Given the description of an element on the screen output the (x, y) to click on. 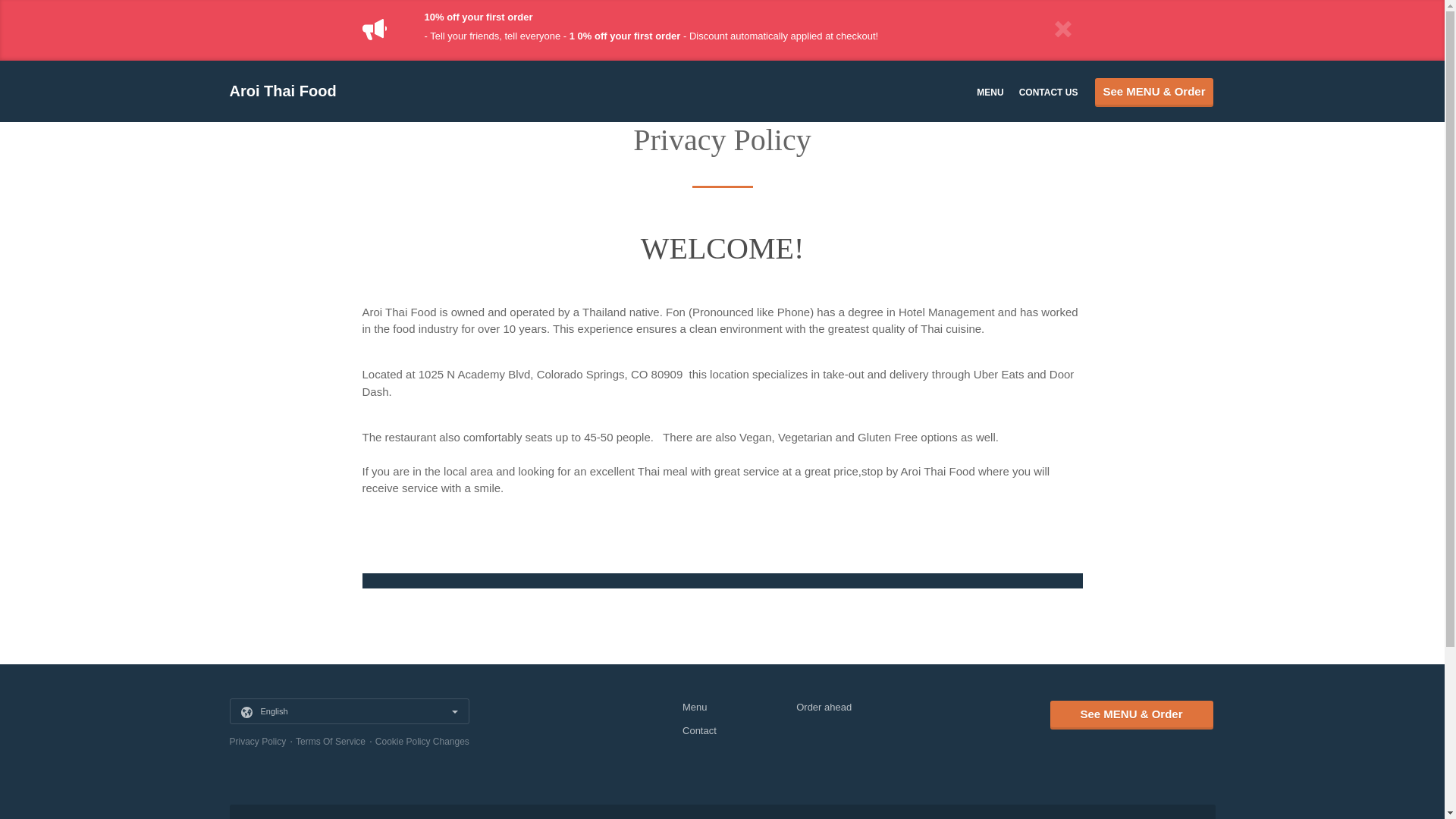
Contact (699, 730)
Order ahead (823, 706)
Privacy Policy (256, 740)
Terms Of Service (330, 740)
MENU (989, 91)
Menu (694, 706)
Aroi Thai Food (289, 90)
CONTACT US (1048, 91)
Cookie Policy Changes (421, 740)
